Given the description of an element on the screen output the (x, y) to click on. 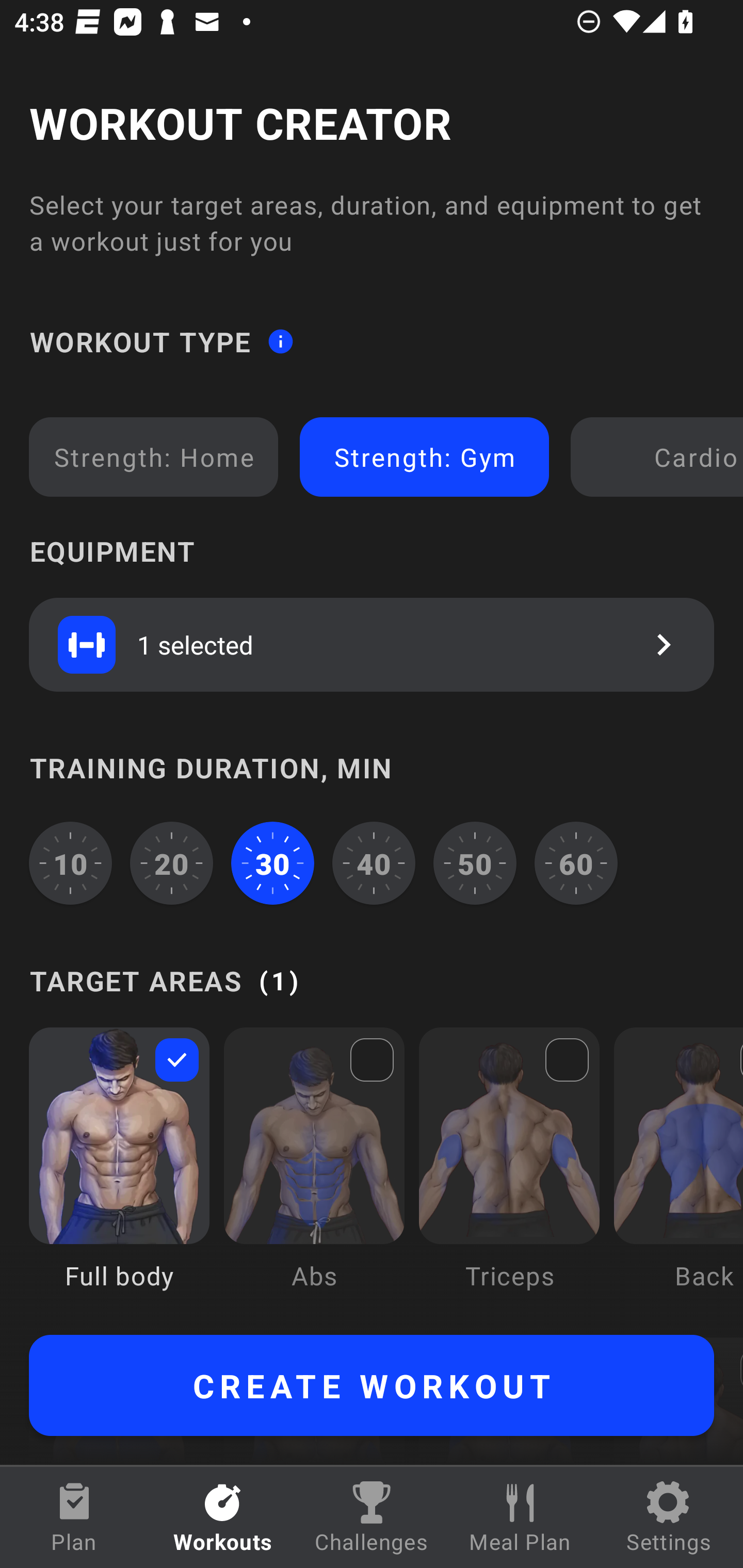
Workout type information button (280, 340)
Strength: Home (153, 457)
Cardio (660, 457)
1 selected (371, 644)
10 (70, 863)
20 (171, 863)
30 (272, 863)
40 (373, 863)
50 (474, 863)
60 (575, 863)
Abs (313, 1172)
Triceps (509, 1172)
Back (678, 1172)
CREATE WORKOUT (371, 1385)
 Plan  (74, 1517)
 Challenges  (371, 1517)
 Meal Plan  (519, 1517)
 Settings  (668, 1517)
